Given the description of an element on the screen output the (x, y) to click on. 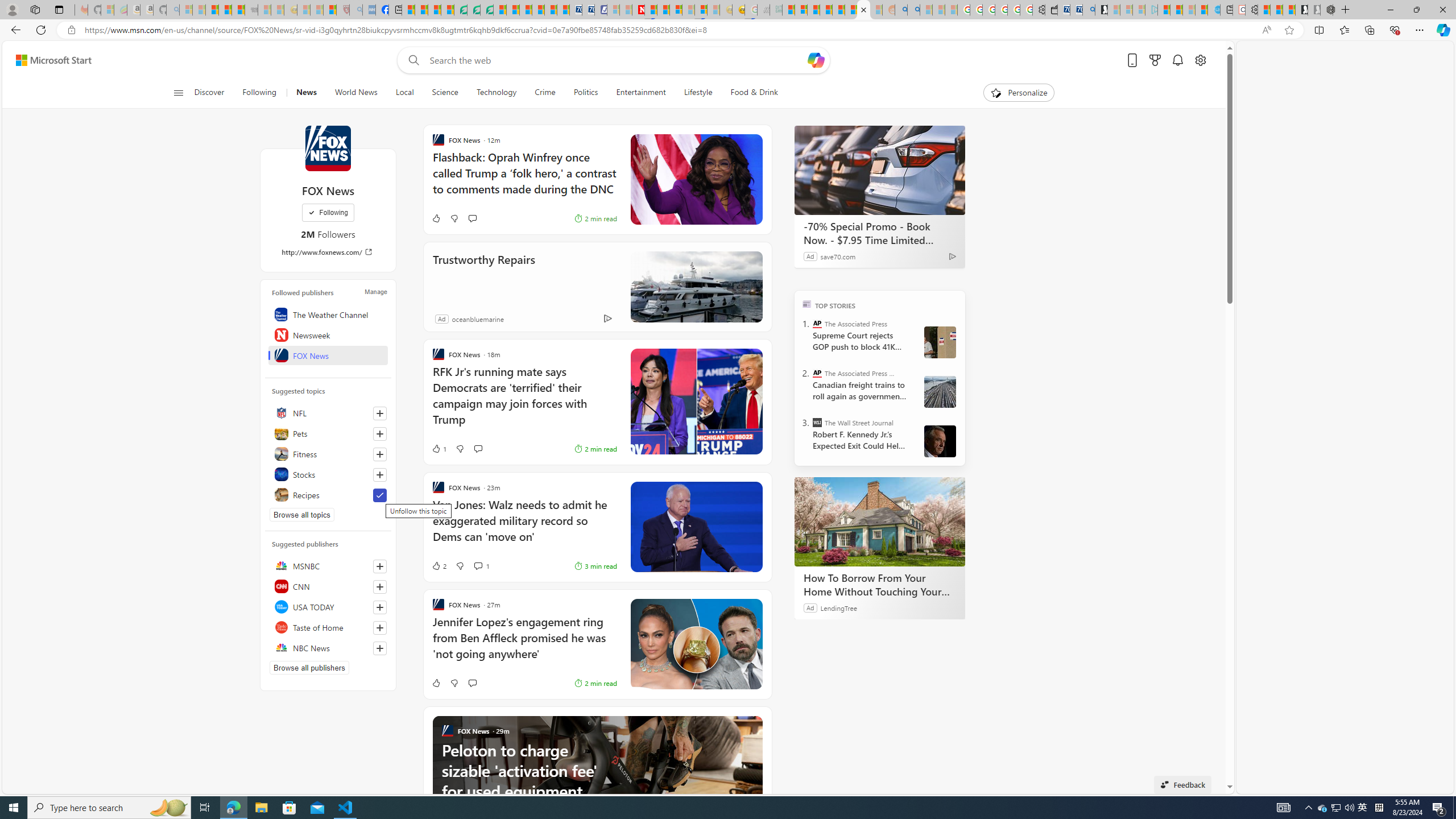
2 Like (438, 565)
Wallet (1050, 9)
Newsweek (327, 334)
